Given the description of an element on the screen output the (x, y) to click on. 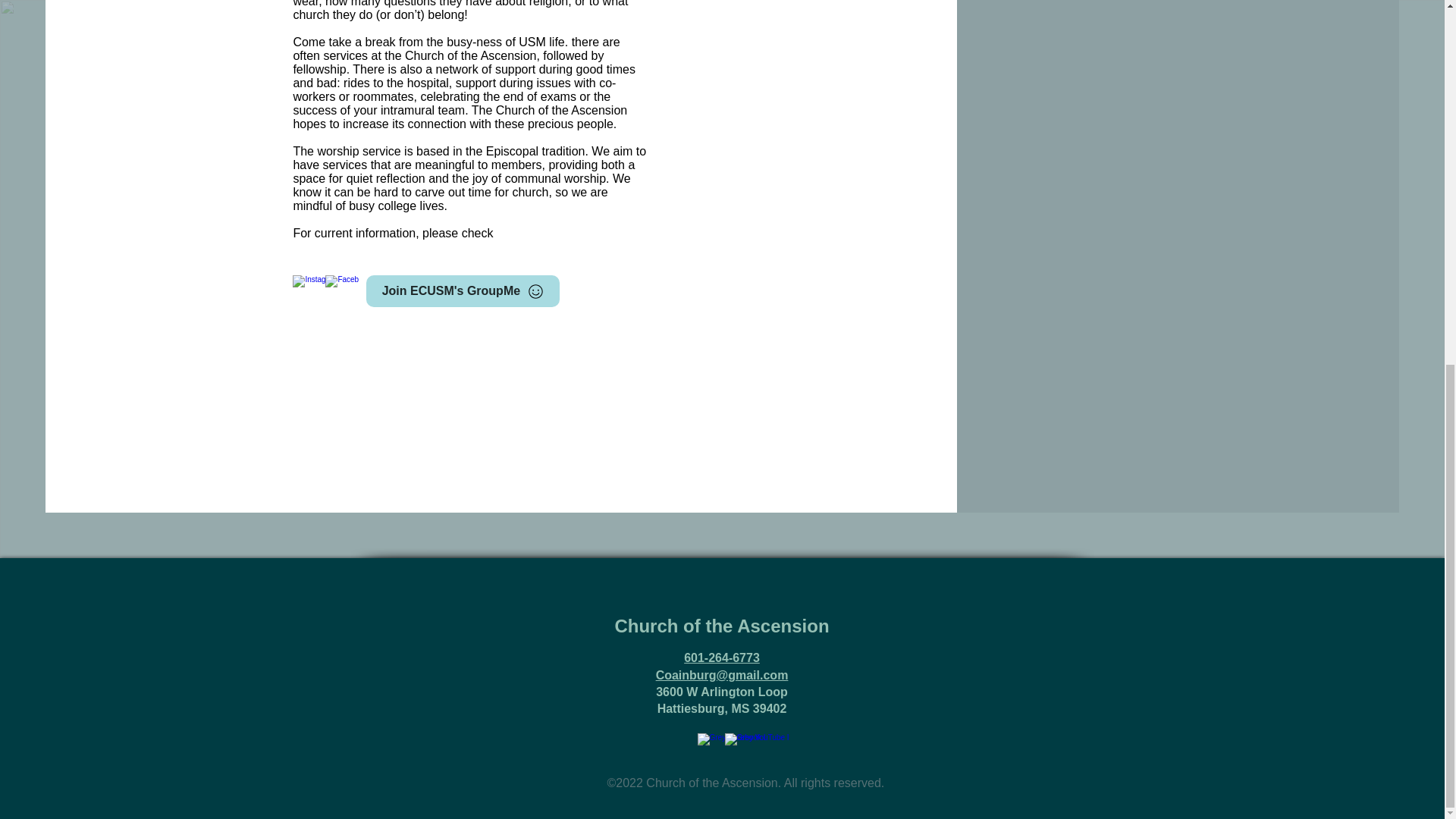
601-264-6773 (722, 657)
Join ECUSM's GroupMe (462, 291)
